Given the description of an element on the screen output the (x, y) to click on. 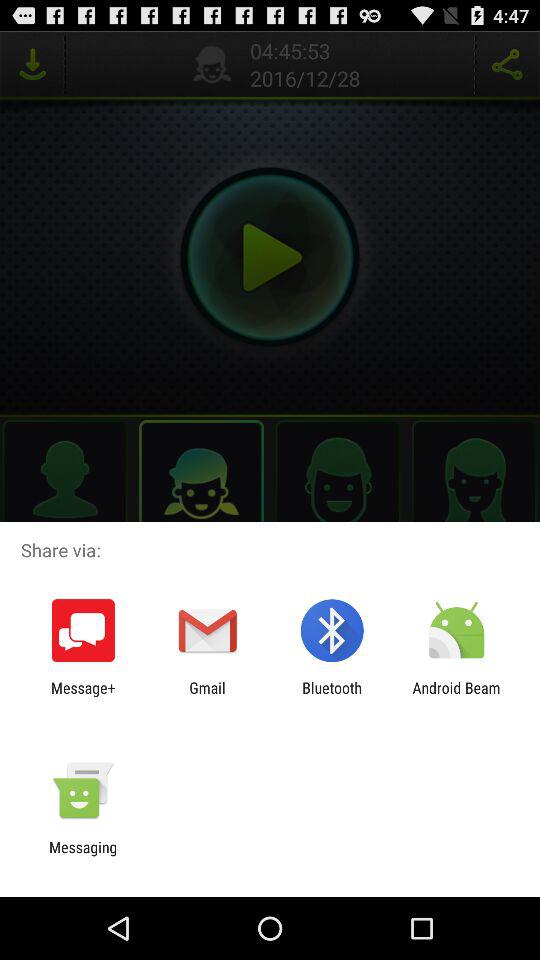
press the message+ (83, 696)
